Given the description of an element on the screen output the (x, y) to click on. 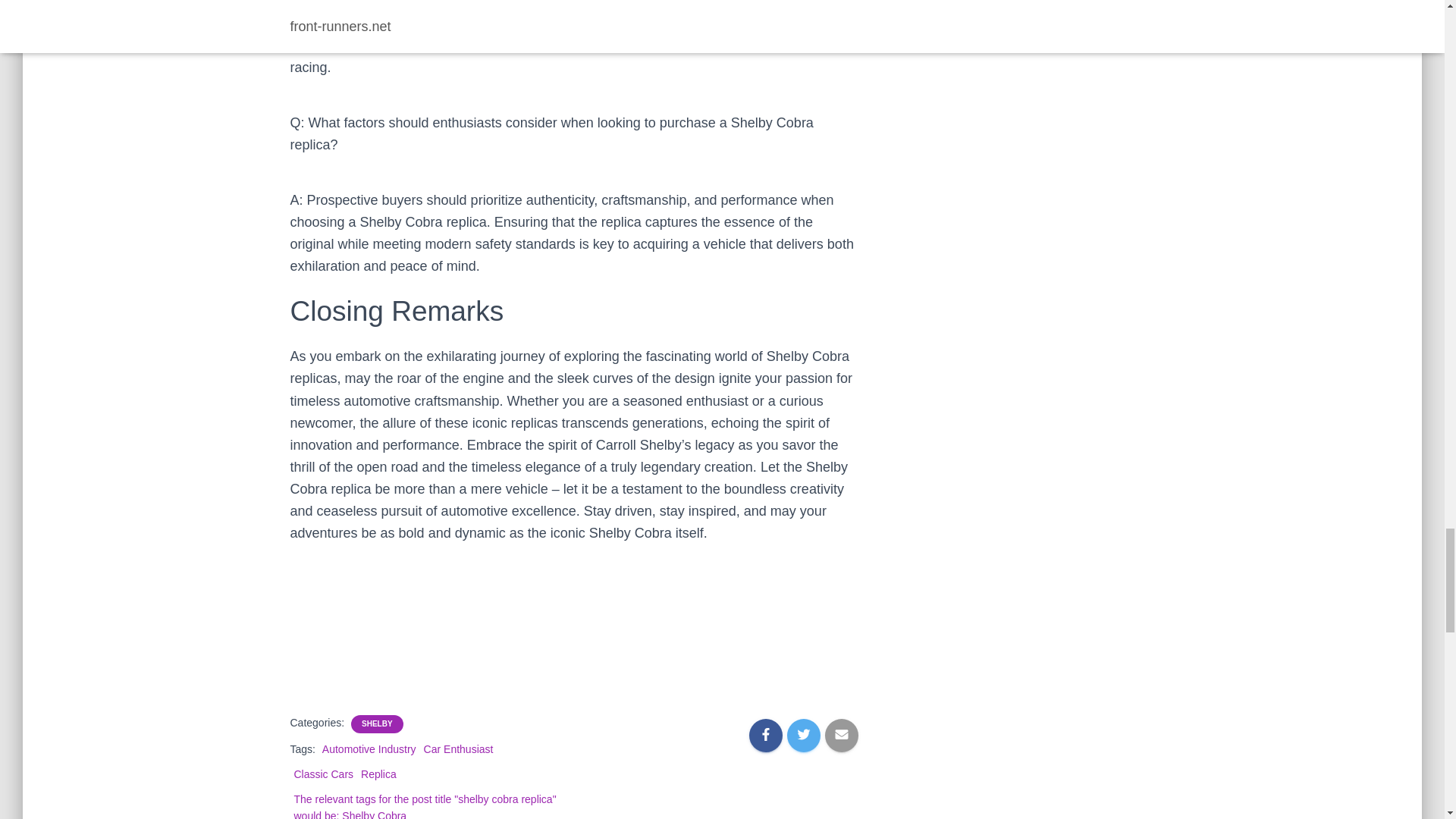
Replica (378, 774)
SHELBY (376, 724)
Classic Cars (323, 774)
Car Enthusiast (458, 748)
Automotive Industry (368, 748)
